Given the description of an element on the screen output the (x, y) to click on. 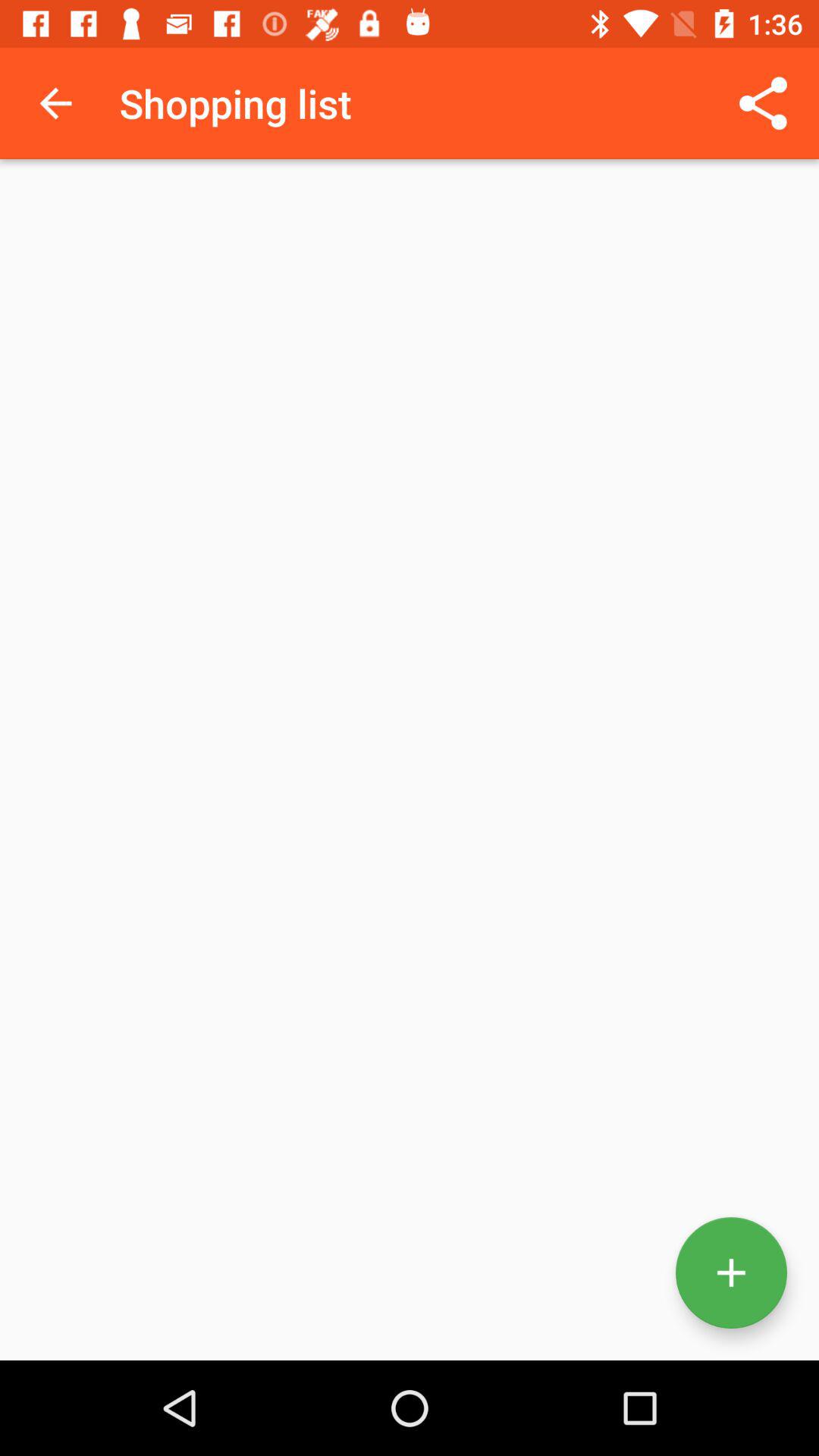
turn on the item to the left of the shopping list app (55, 103)
